Given the description of an element on the screen output the (x, y) to click on. 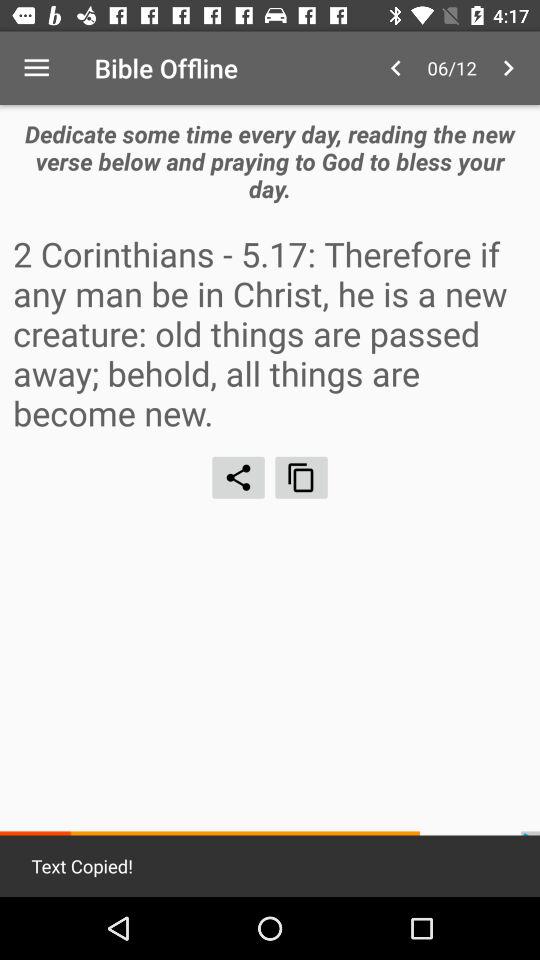
open item below dedicate some time icon (270, 332)
